Given the description of an element on the screen output the (x, y) to click on. 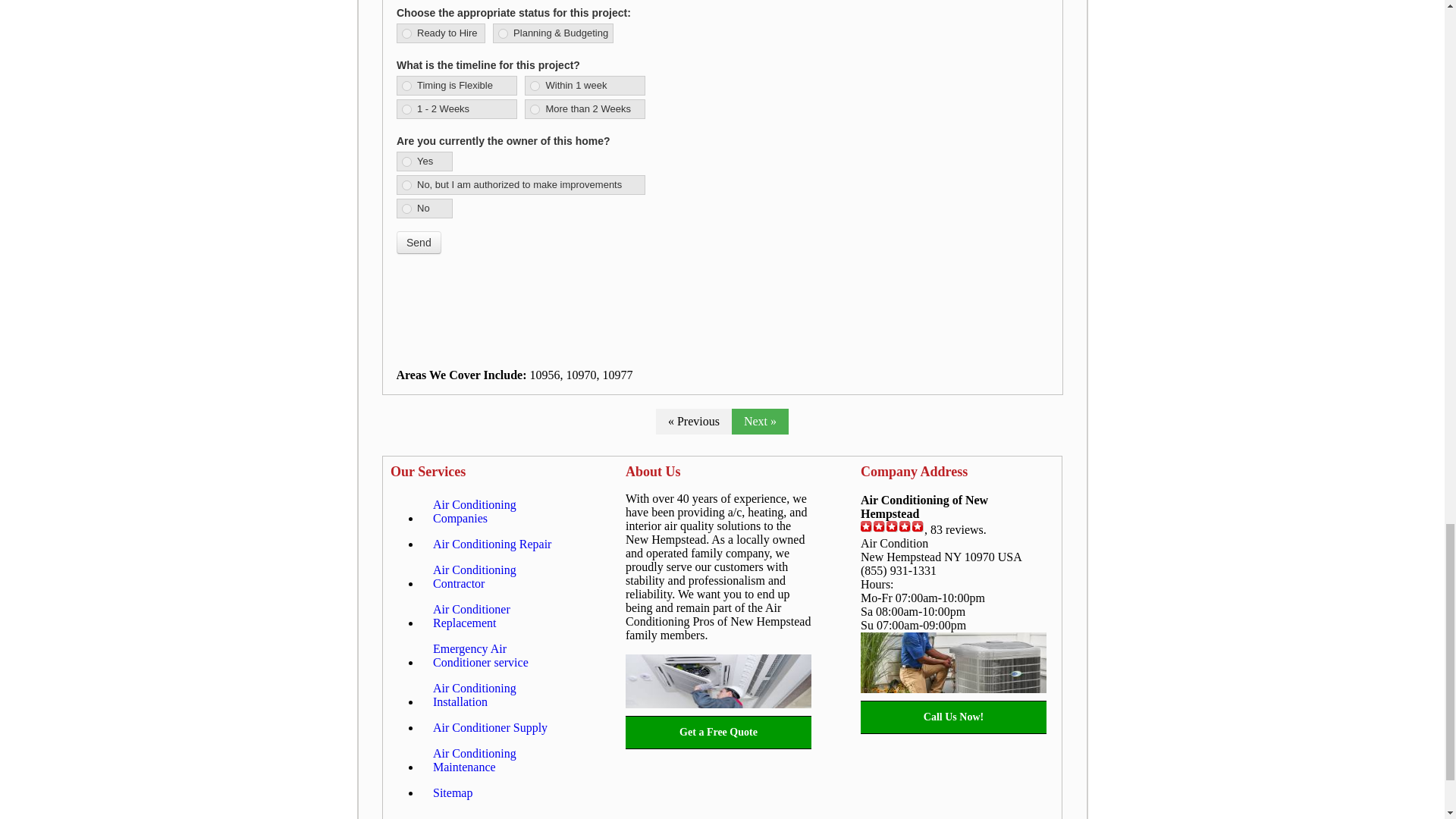
Air Conditioning Repair (491, 544)
Air Conditioner Replacement (498, 616)
Call Us Now! (953, 717)
Emergency Air Conditioner service (498, 655)
Air Conditioning Contractor (498, 577)
Air Conditioning Maintenance (498, 760)
Air Conditioning Companies (498, 511)
Air Conditioning Installation (498, 694)
Sitemap (452, 792)
Get a Free Quote (718, 732)
Air Conditioner Supply (489, 727)
